Given the description of an element on the screen output the (x, y) to click on. 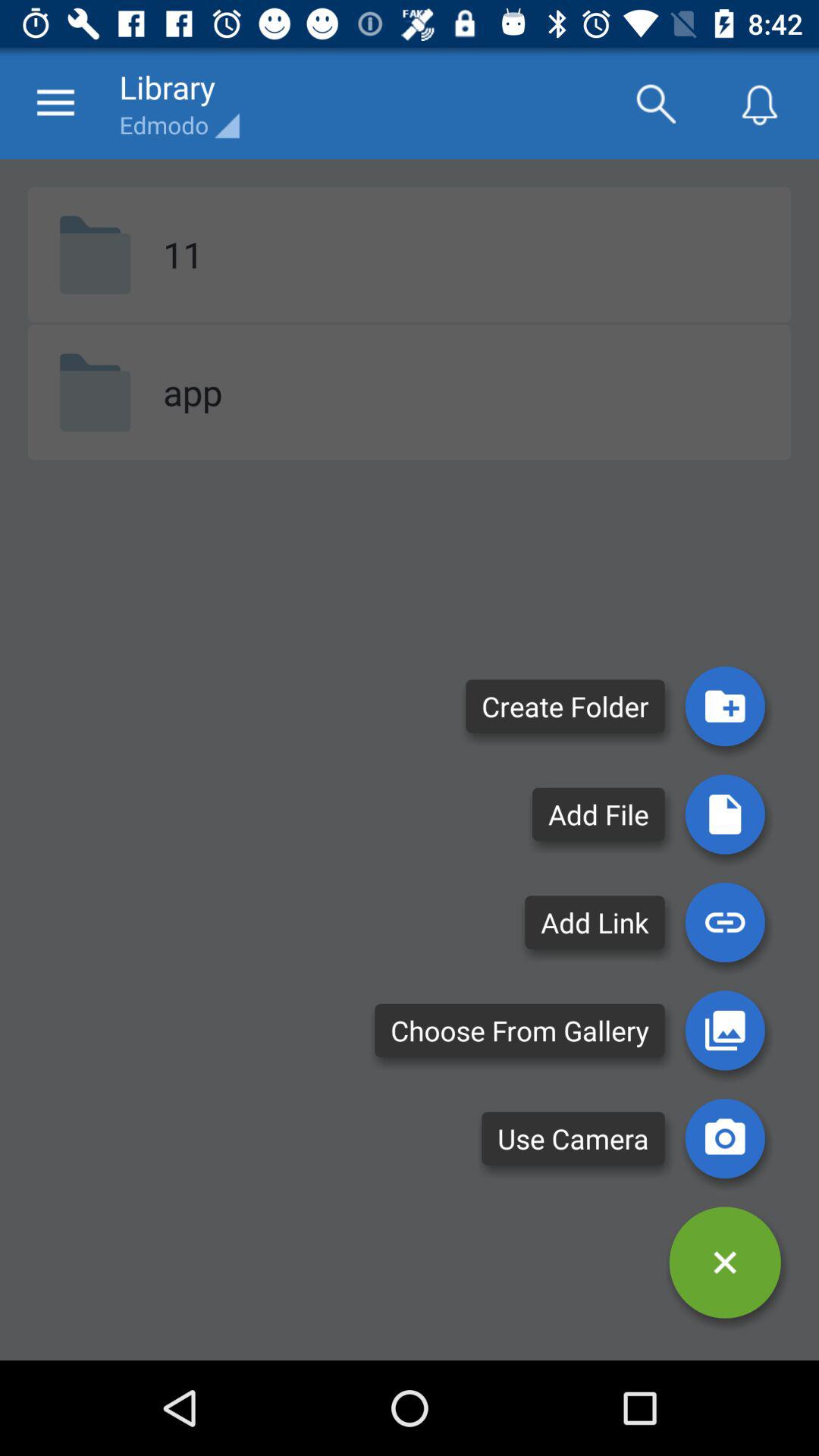
press the item below the edmodo (183, 254)
